Given the description of an element on the screen output the (x, y) to click on. 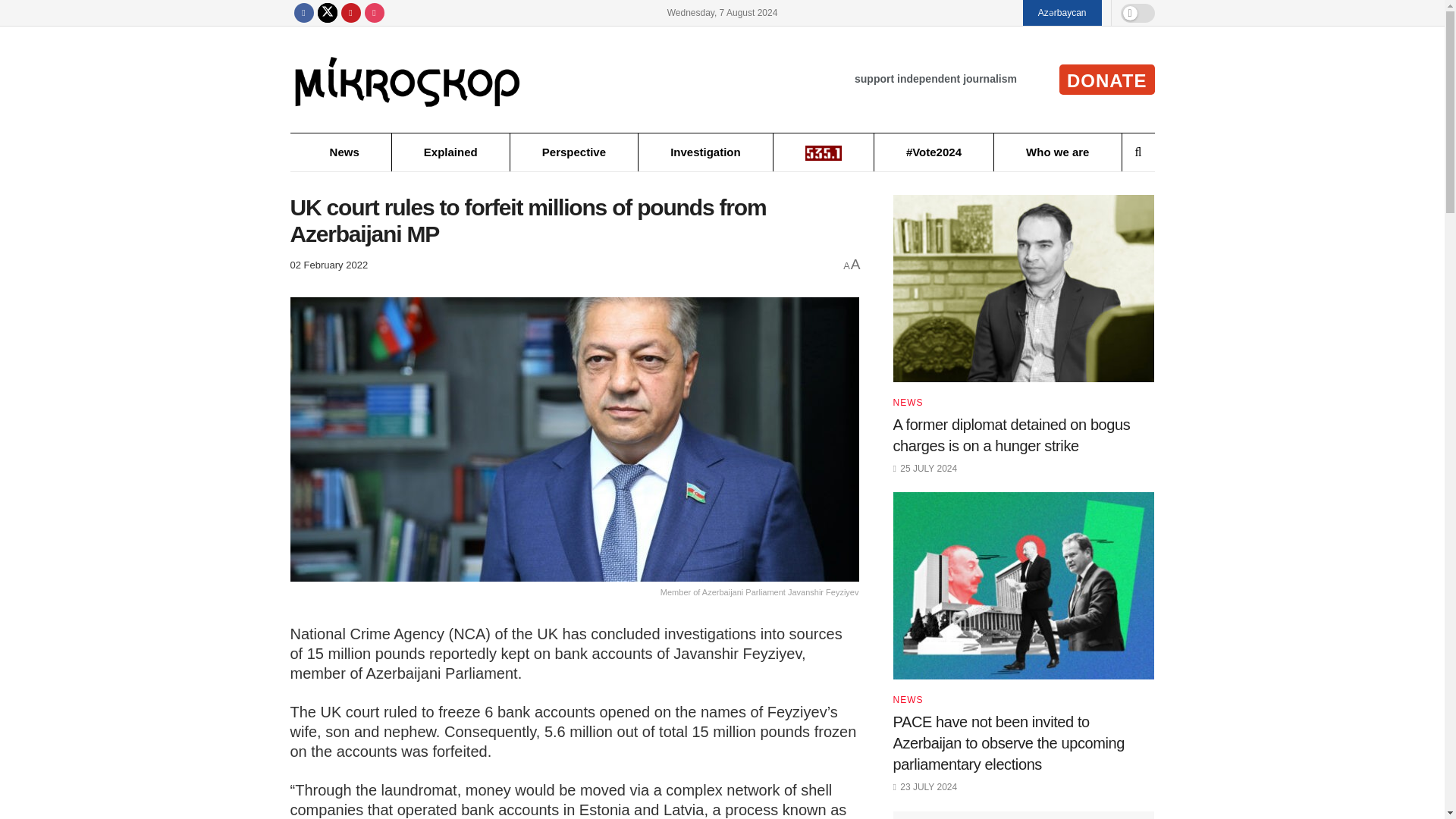
Who we are (1057, 151)
Investigation (705, 151)
02 February 2022 (328, 265)
DONATE (1106, 79)
Explained (450, 151)
Perspective (573, 151)
News (344, 151)
